Given the description of an element on the screen output the (x, y) to click on. 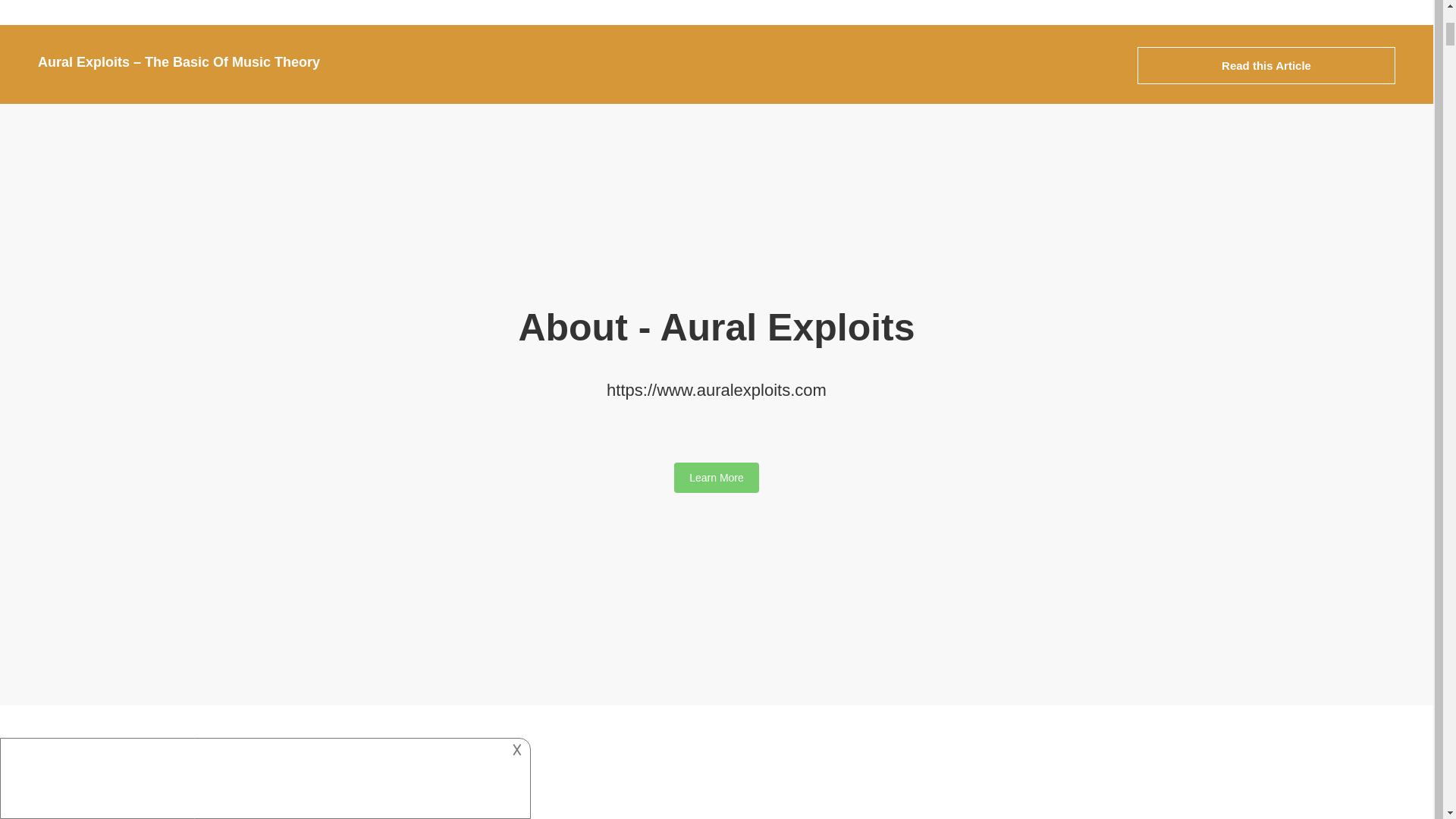
Learn More (716, 477)
Learn More (716, 477)
About - Aural Exploits (716, 327)
Read this Article (1266, 65)
